Given the description of an element on the screen output the (x, y) to click on. 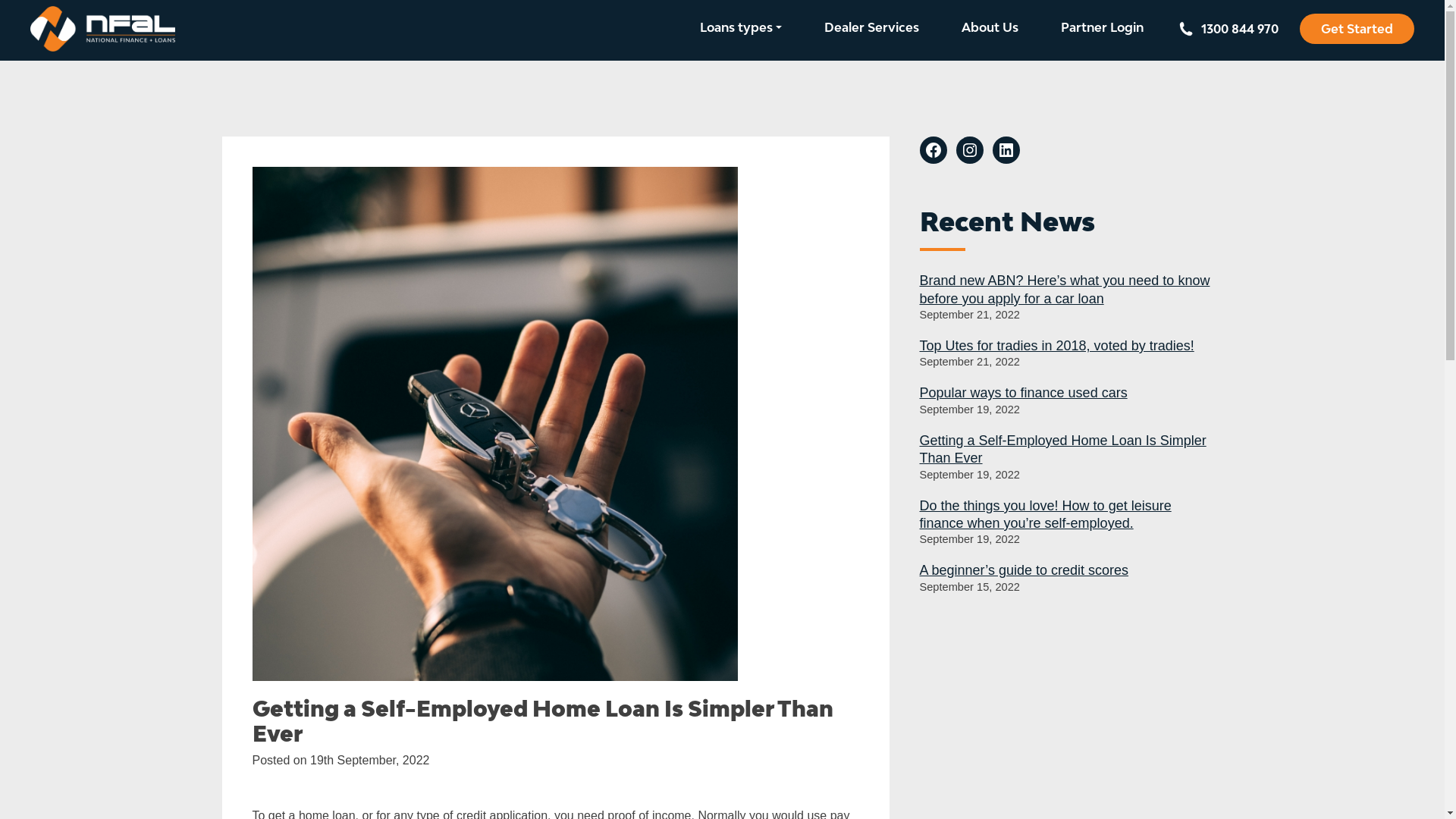
1300 844 970 Element type: text (1231, 27)
LinkedIn Element type: text (1005, 149)
Top Utes for tradies in 2018, voted by tradies! Element type: text (1056, 345)
Getting a Self-Employed Home Loan Is Simpler Than Ever Element type: text (1062, 449)
Get Started Element type: text (1356, 28)
Facebook Element type: text (932, 149)
Loans types Element type: text (740, 27)
Instagram Element type: text (968, 149)
Dealer Services Element type: text (871, 27)
Popular ways to finance used cars Element type: text (1022, 392)
Partner Login Element type: text (1101, 27)
About Us Element type: text (989, 27)
